Given the description of an element on the screen output the (x, y) to click on. 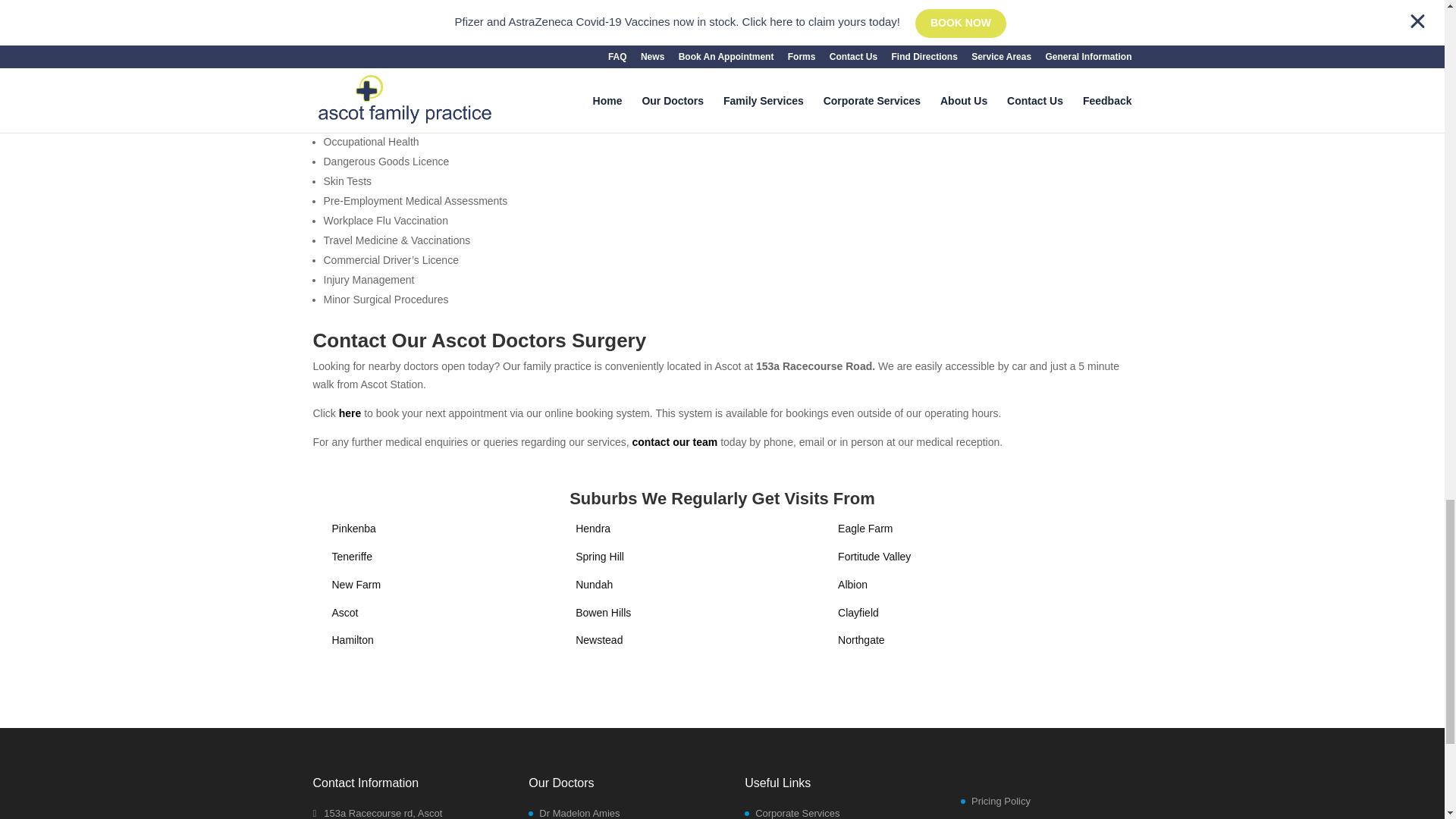
here (350, 413)
Hamilton (352, 639)
Teneriffe (351, 556)
Nundah (593, 584)
Northgate (860, 639)
Bowen Hills (602, 612)
New Farm (356, 584)
Clayfield (858, 612)
153a Racecourse rd, Ascot (377, 813)
Pinkenba (353, 528)
